Given the description of an element on the screen output the (x, y) to click on. 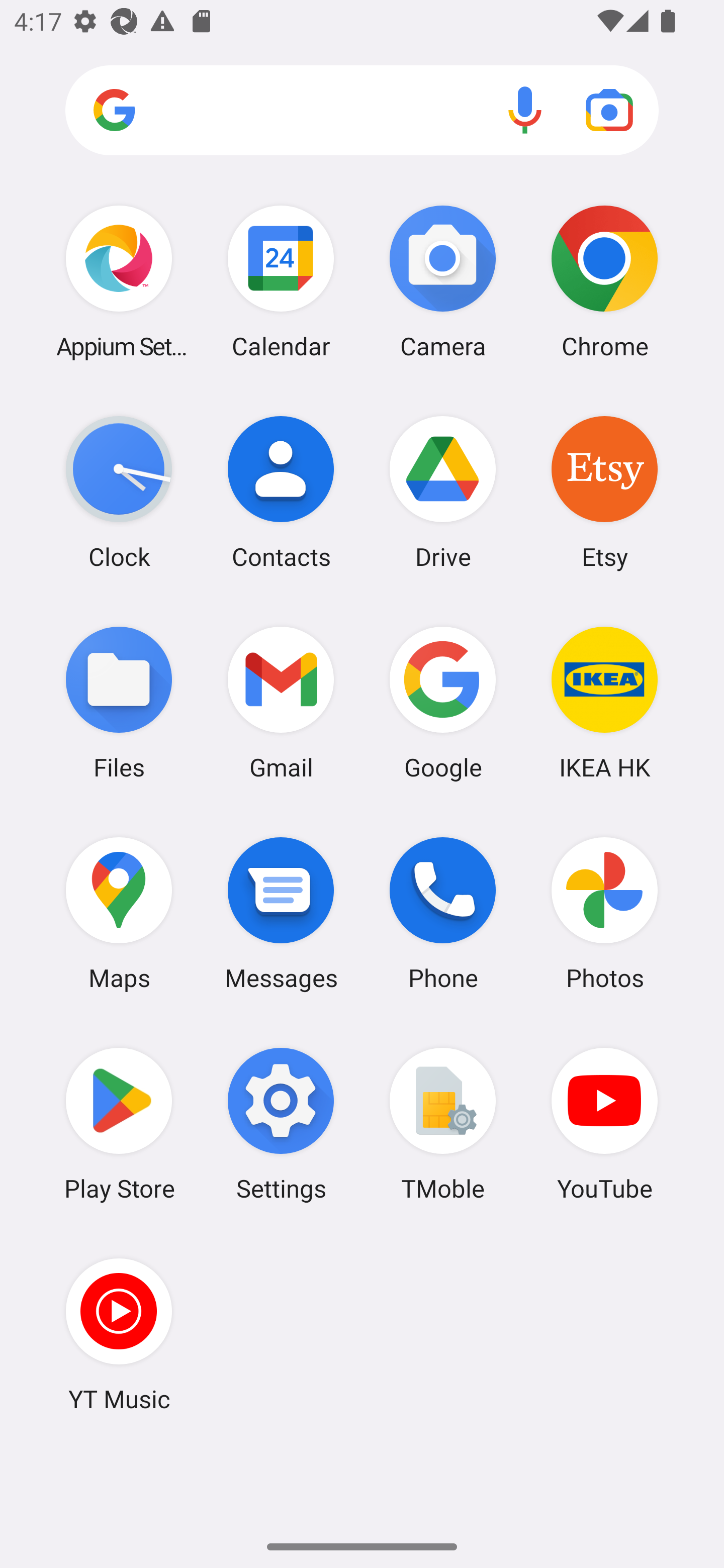
Search apps, web and more (361, 110)
Voice search (524, 109)
Google Lens (608, 109)
Appium Settings (118, 281)
Calendar (280, 281)
Camera (443, 281)
Chrome (604, 281)
Clock (118, 492)
Contacts (280, 492)
Drive (443, 492)
Etsy (604, 492)
Files (118, 702)
Gmail (280, 702)
Google (443, 702)
IKEA HK (604, 702)
Maps (118, 913)
Messages (280, 913)
Phone (443, 913)
Photos (604, 913)
Play Store (118, 1124)
Settings (280, 1124)
TMoble (443, 1124)
YouTube (604, 1124)
YT Music (118, 1334)
